Given the description of an element on the screen output the (x, y) to click on. 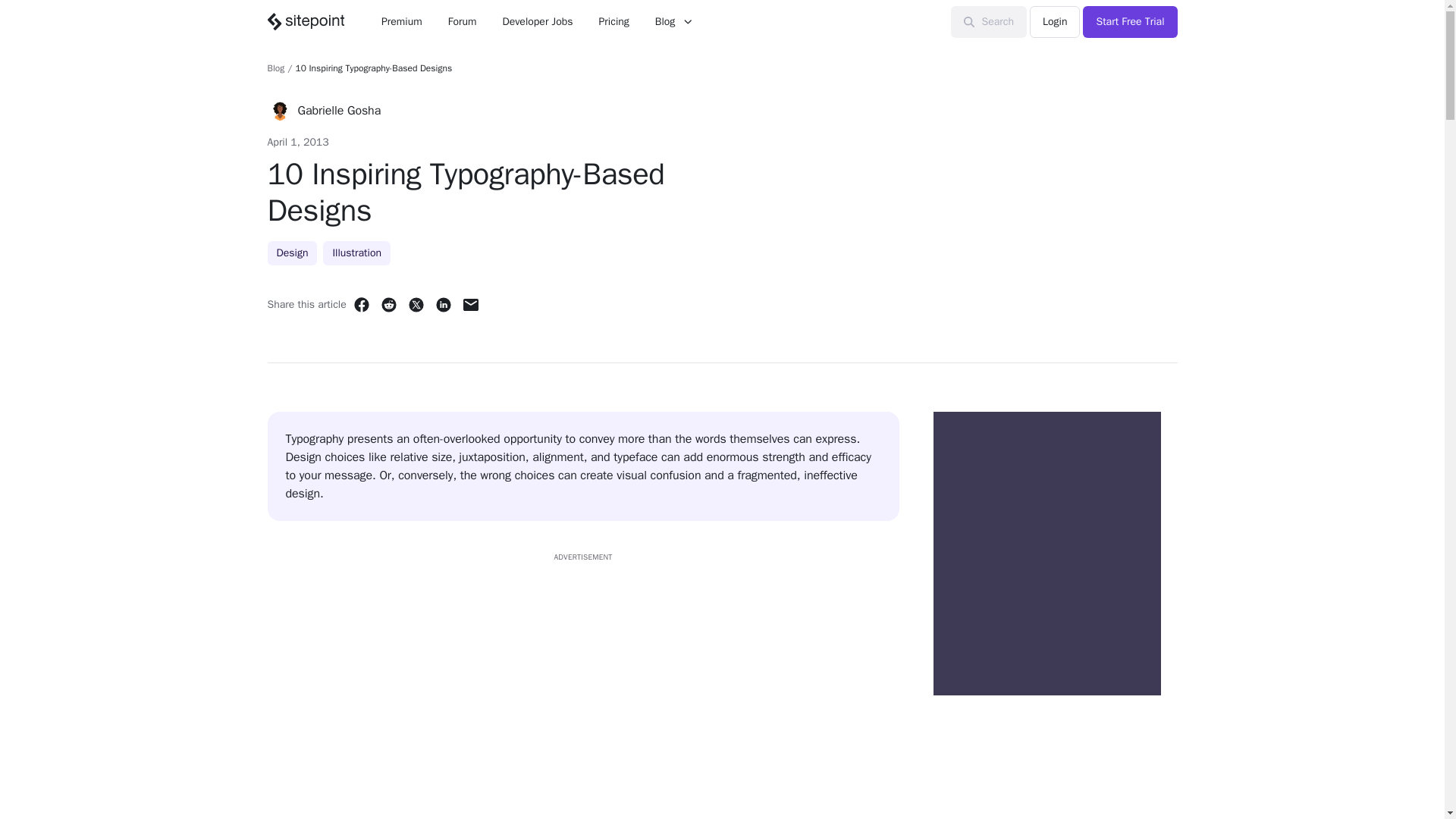
Design (291, 252)
Forum (462, 21)
Illustration (356, 252)
Pricing (614, 21)
Developer Jobs (537, 21)
Start Free Trial (1129, 21)
Premium (401, 21)
Gabrielle Gosha (338, 110)
Blog (674, 21)
Search (988, 21)
